Given the description of an element on the screen output the (x, y) to click on. 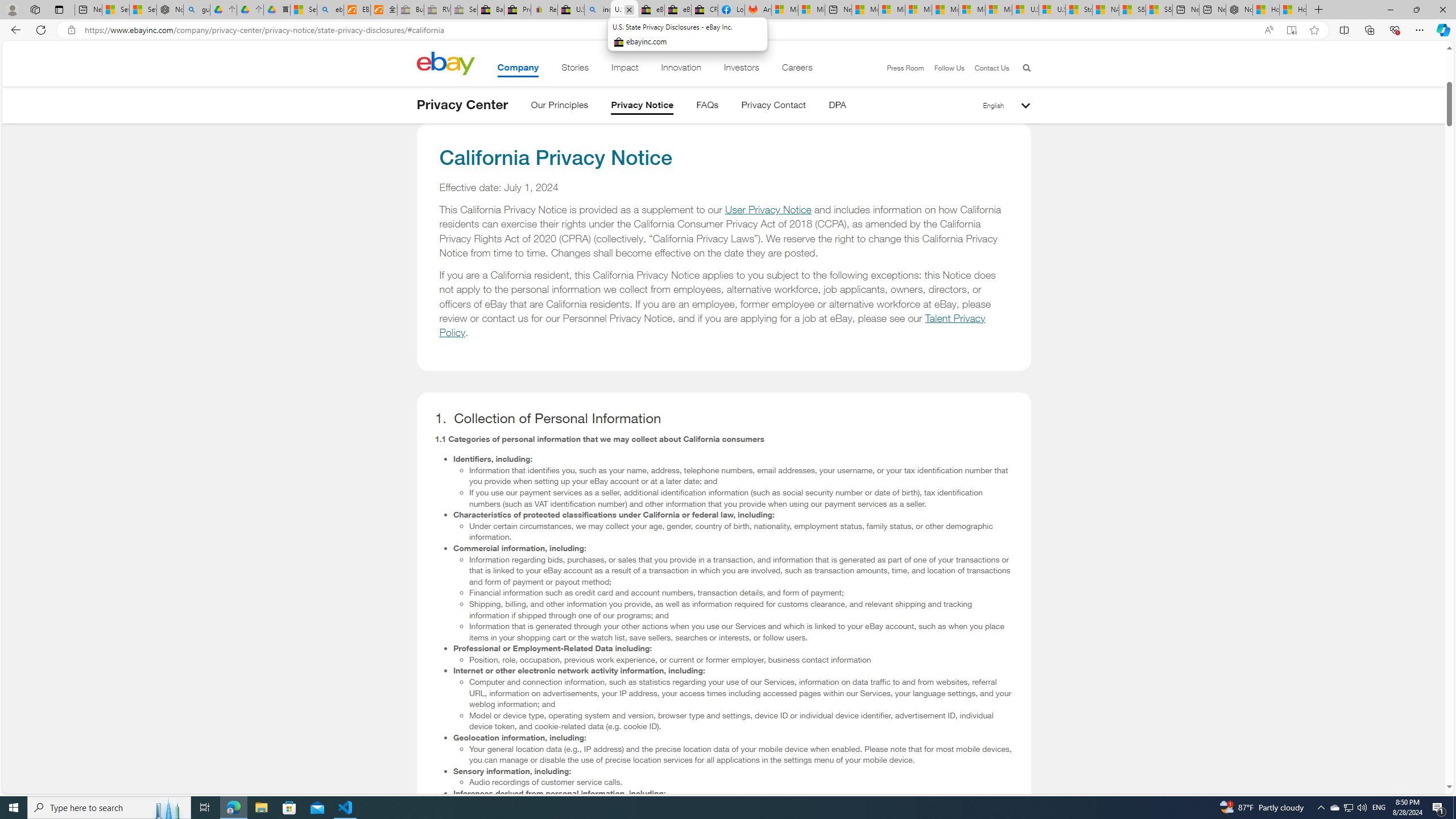
U.S. State Privacy Disclosures - eBay Inc. (623, 9)
FAQs (707, 107)
